Given the description of an element on the screen output the (x, y) to click on. 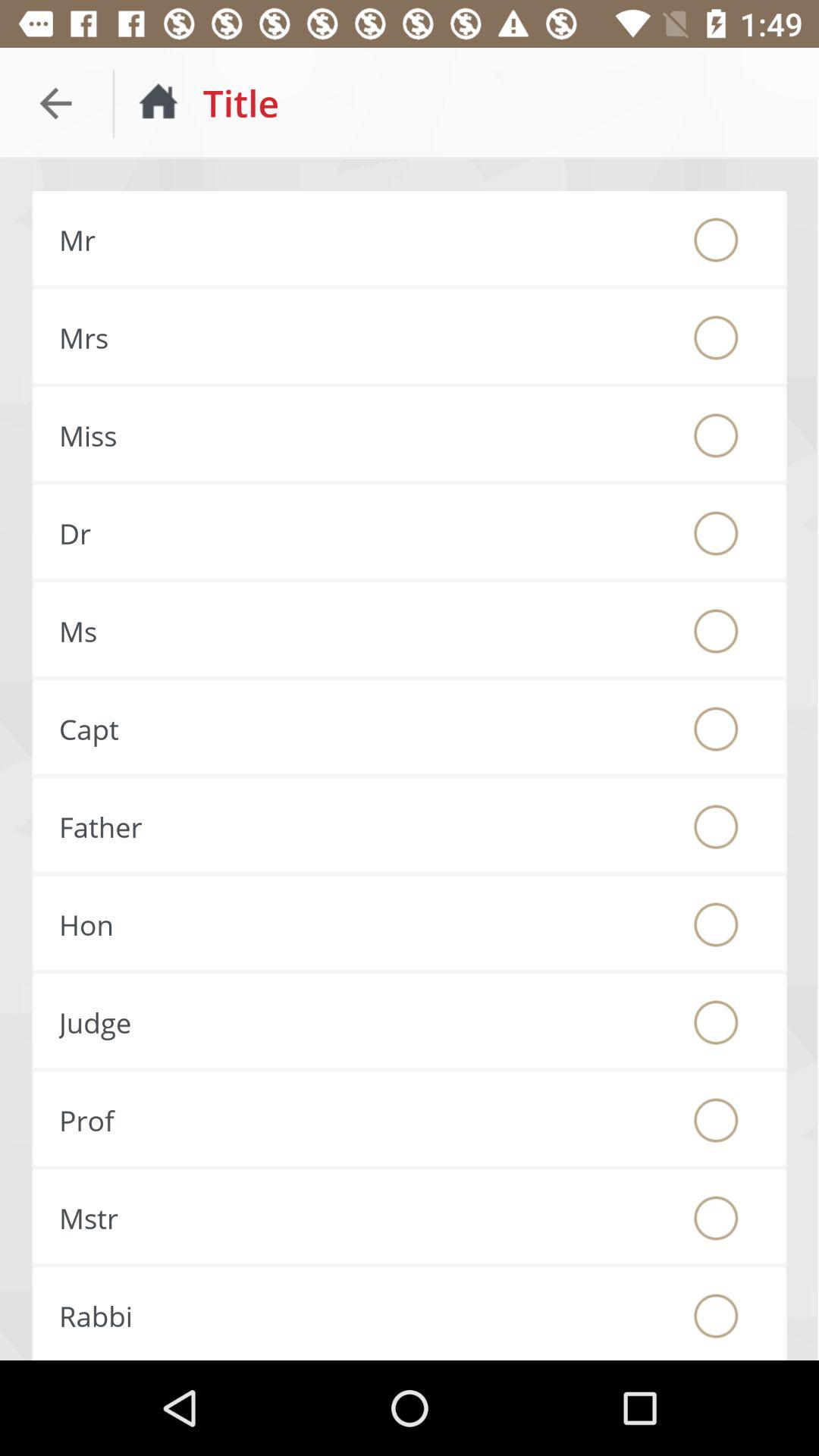
choose this option (715, 631)
